Given the description of an element on the screen output the (x, y) to click on. 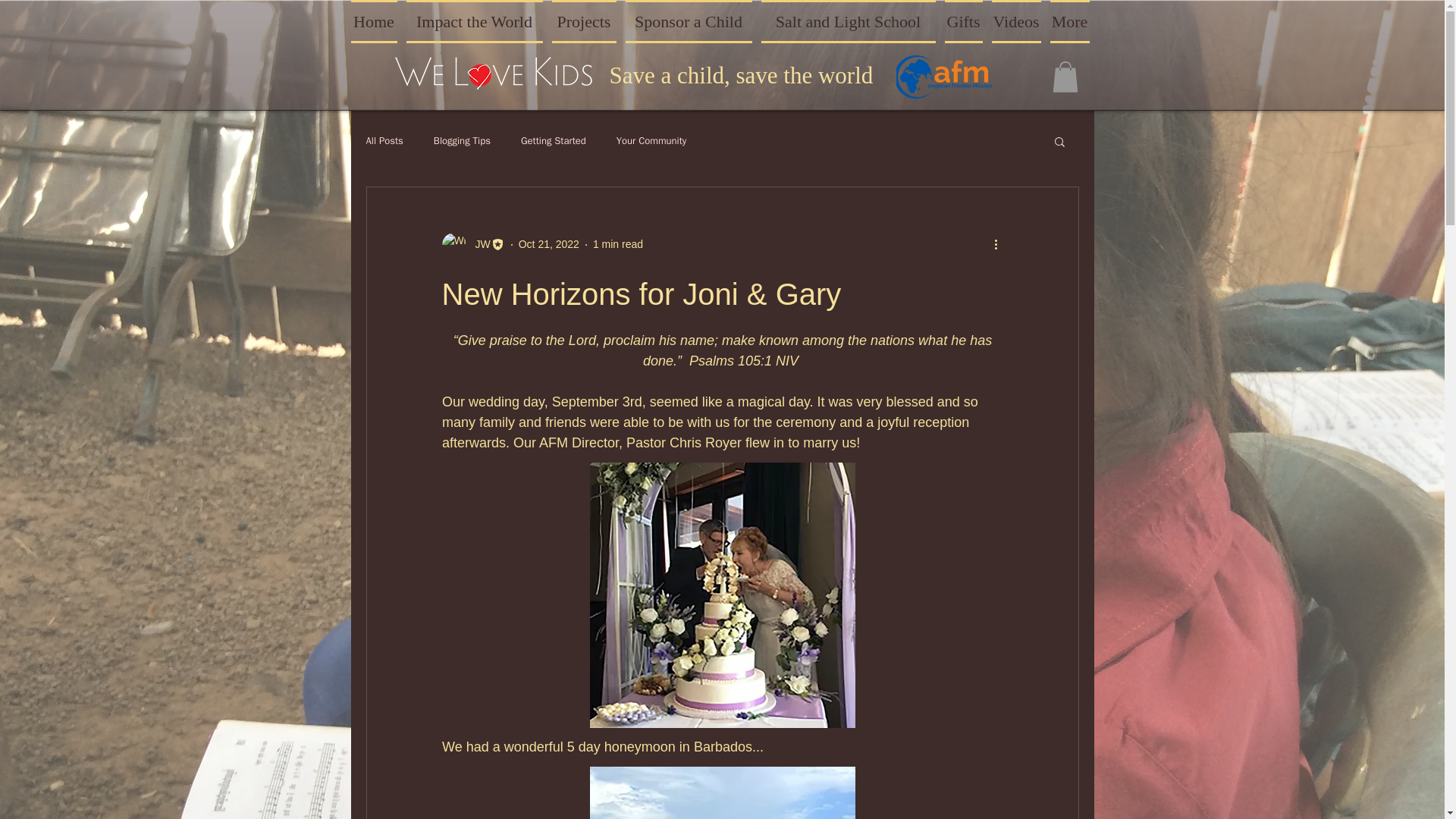
1 min read (617, 244)
Projects (584, 21)
Oct 21, 2022 (548, 244)
Impact the World (474, 21)
Your Community (650, 141)
JW (477, 244)
Home (375, 21)
JW (472, 244)
Blogging Tips (461, 141)
Salt and Light School (848, 21)
Sponsor a Child (687, 21)
Videos (1016, 21)
All Posts (384, 141)
Gifts (963, 21)
Getting Started (553, 141)
